Given the description of an element on the screen output the (x, y) to click on. 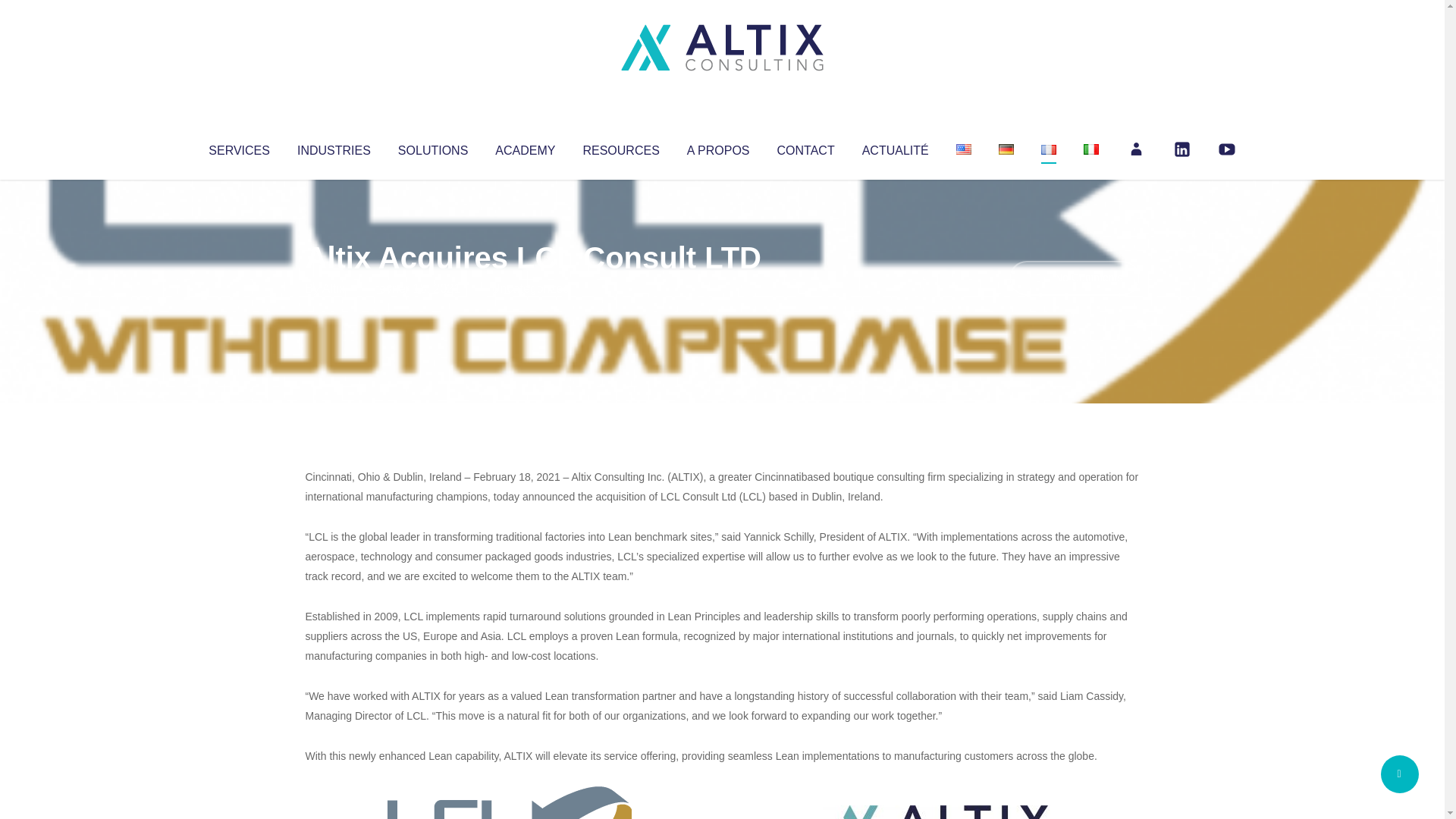
RESOURCES (620, 146)
ACADEMY (524, 146)
INDUSTRIES (334, 146)
No Comments (1073, 278)
Uncategorized (530, 287)
SERVICES (238, 146)
Altix (333, 287)
SOLUTIONS (432, 146)
Articles par Altix (333, 287)
A PROPOS (718, 146)
